Given the description of an element on the screen output the (x, y) to click on. 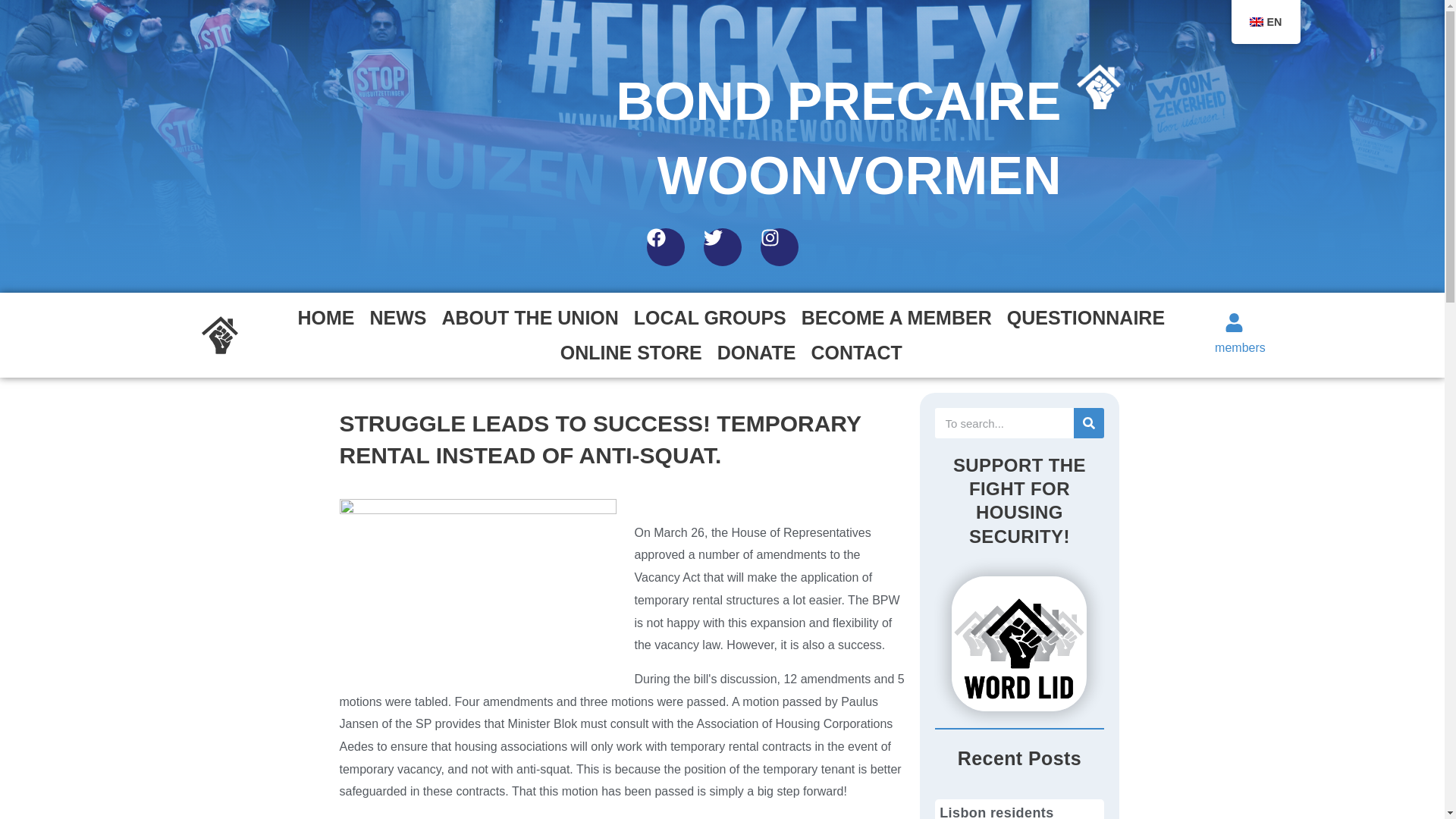
DONATE (756, 352)
Facebook (665, 247)
HOME (325, 317)
LOCAL GROUPS (709, 317)
ABOUT THE UNION (529, 317)
NEWS (397, 317)
Instagram (778, 247)
ONLINE STORE (631, 352)
members (1239, 347)
Twitter (722, 247)
CONTACT (856, 352)
QUESTIONNAIRE (1085, 317)
Rochdale (477, 584)
BECOME A MEMBER (895, 317)
Help us in your and our struggle (895, 317)
